Given the description of an element on the screen output the (x, y) to click on. 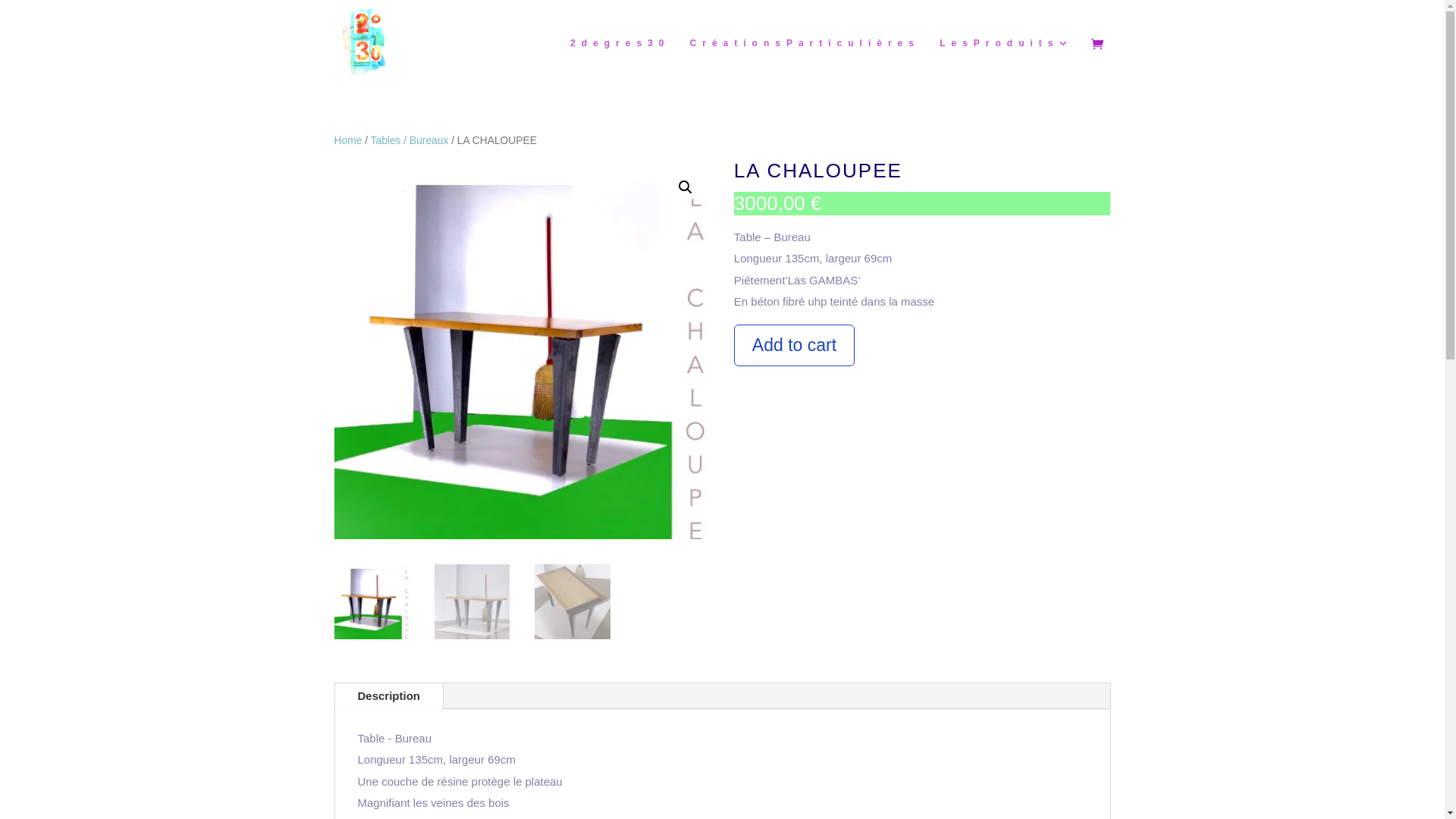
IMG_6307 Element type: hover (521, 350)
2degres30 Element type: text (619, 61)
LesProduits Element type: text (1006, 61)
Home Element type: text (347, 140)
Description Element type: text (389, 696)
Add to cart Element type: text (794, 345)
Tables / Bureaux Element type: text (409, 140)
